Given the description of an element on the screen output the (x, y) to click on. 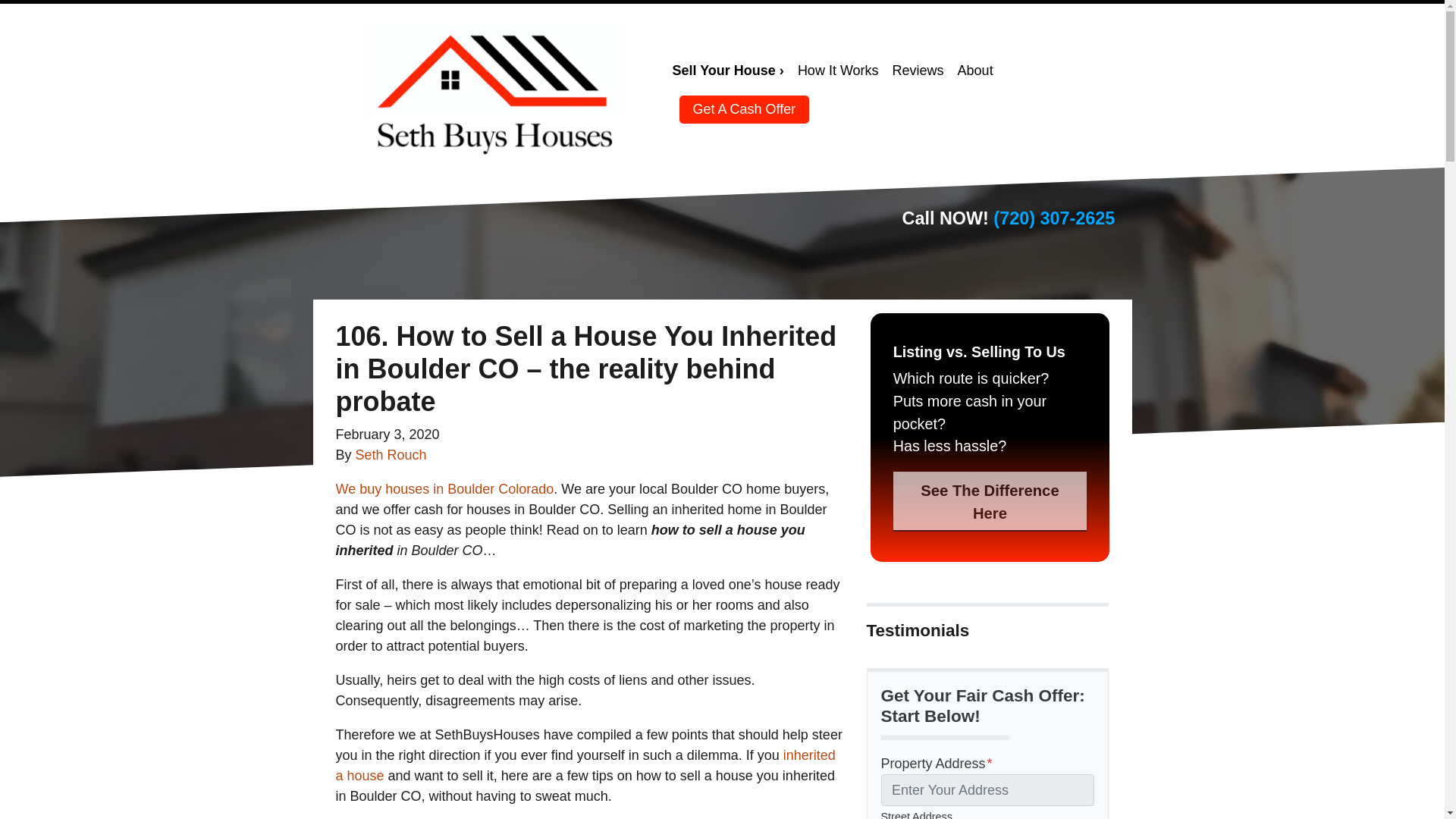
See The Difference Here (989, 501)
About (975, 70)
Get A Cash Offer (744, 109)
Seth Rouch (390, 454)
Get A Cash Offer (744, 109)
About (975, 70)
How It Works (837, 70)
inherited a house (584, 764)
We buy houses in Boulder Colorado (443, 488)
Reviews (917, 70)
Reviews (917, 70)
How It Works (837, 70)
